Given the description of an element on the screen output the (x, y) to click on. 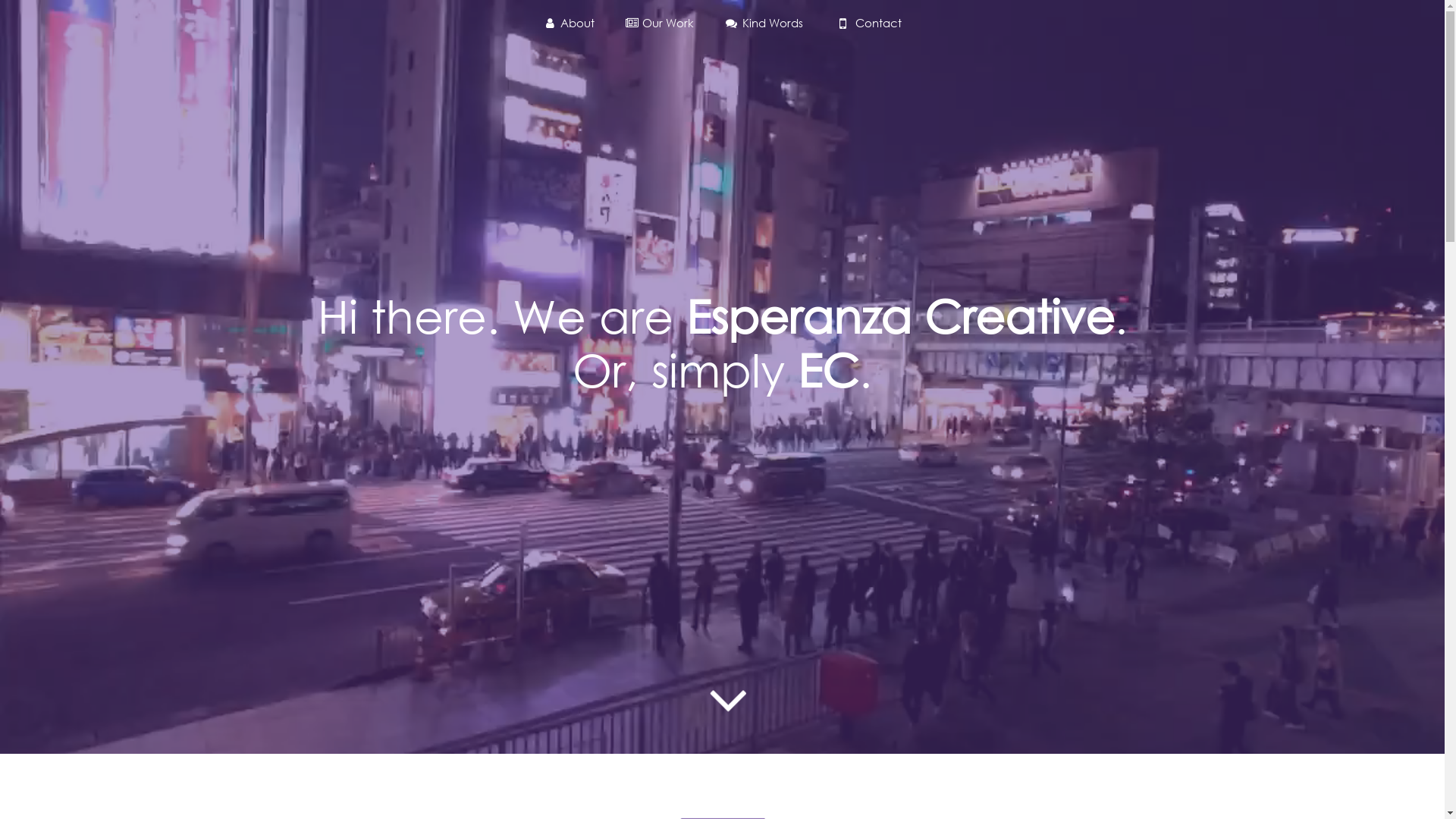
Our Work Element type: text (659, 22)
Contact Element type: text (867, 22)
Kind Words Element type: text (763, 22)
About Element type: text (568, 22)
